Given the description of an element on the screen output the (x, y) to click on. 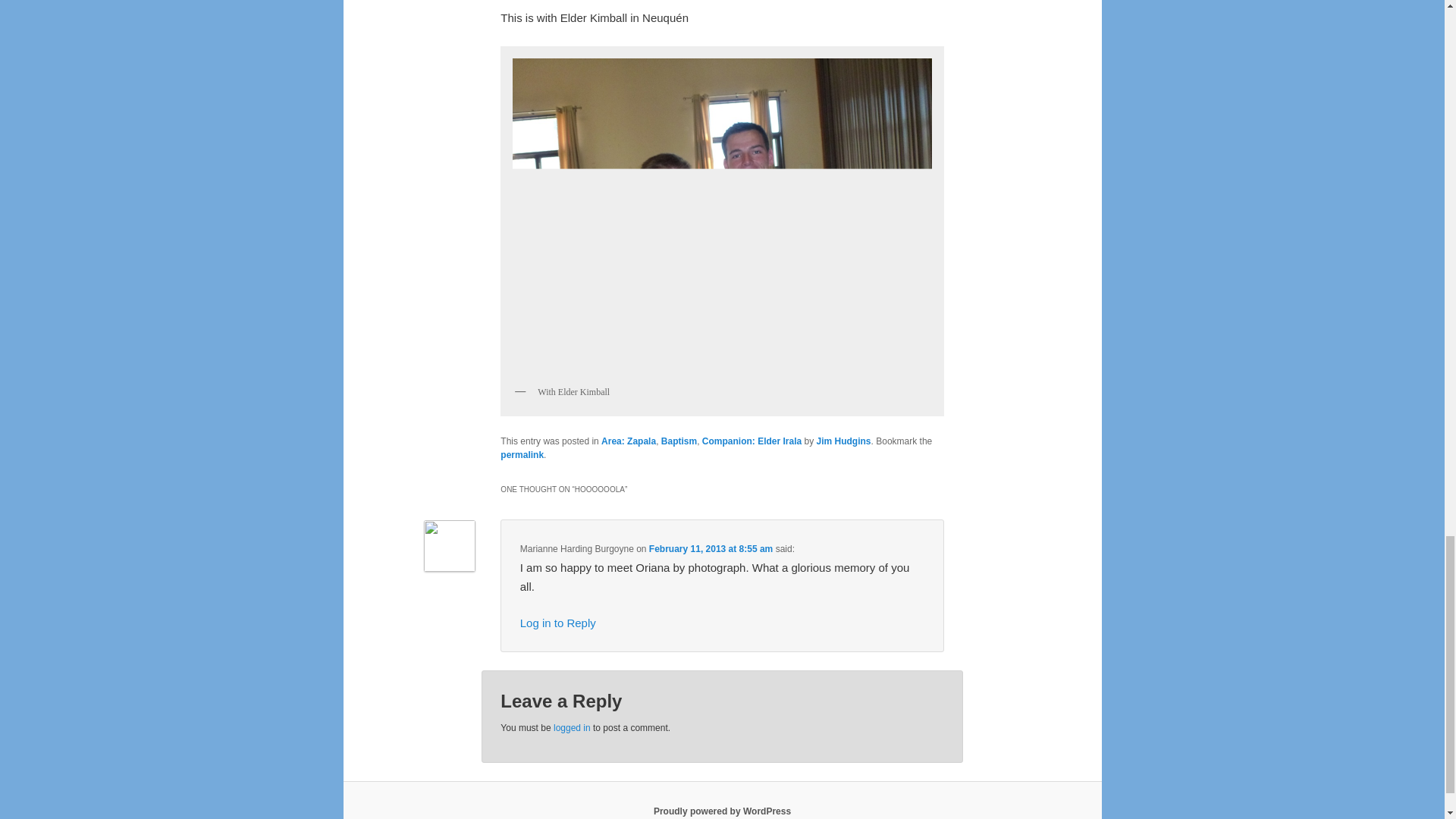
permalink (521, 454)
Semantic Personal Publishing Platform (721, 810)
Companion: Elder Irala (751, 440)
Log in to Reply (557, 622)
Jim Hudgins (843, 440)
Baptism (679, 440)
Area: Zapala (628, 440)
February 11, 2013 at 8:55 am (711, 548)
Permalink to hoooooola (521, 454)
logged in (572, 727)
